Given the description of an element on the screen output the (x, y) to click on. 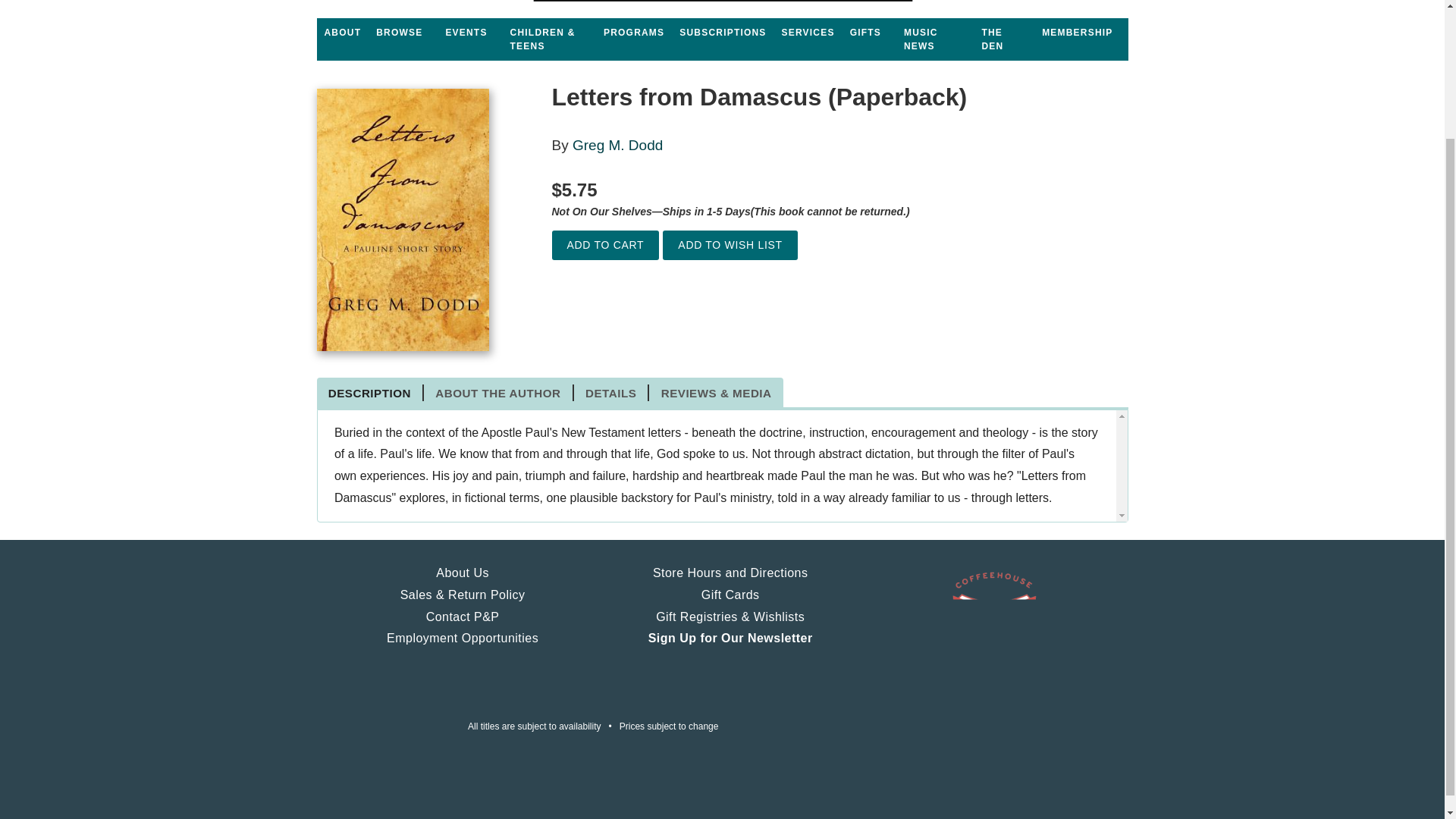
Add to Cart (605, 245)
PROGRAMS (633, 32)
Add to Wish List (729, 245)
SERVICES (808, 32)
See information about our programs (633, 32)
BROWSE (398, 32)
Browse our shelves (398, 32)
ABOUT (343, 32)
SUBSCRIPTIONS (722, 32)
Children and Teens Department (548, 39)
